Given the description of an element on the screen output the (x, y) to click on. 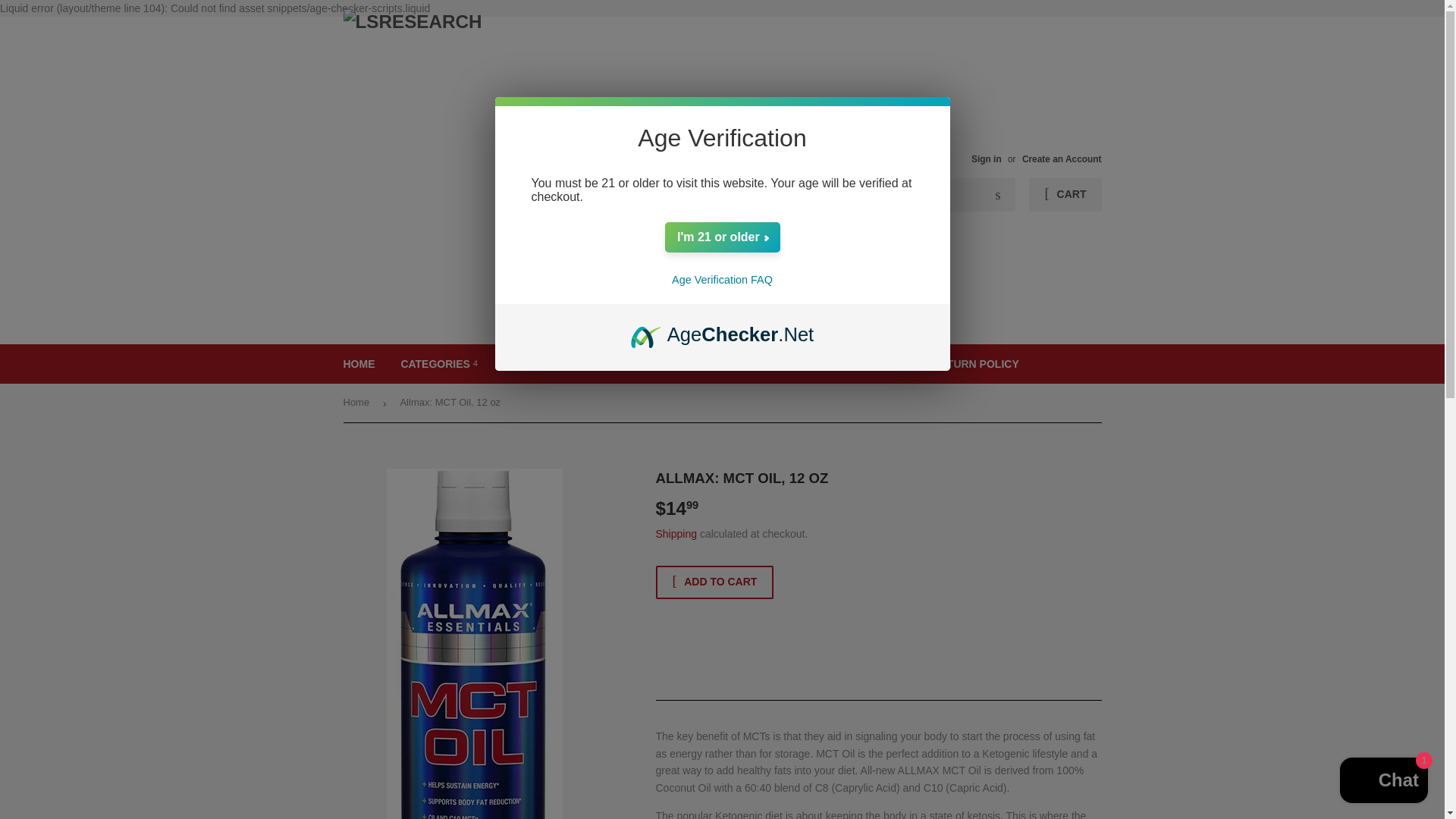
CATEGORIES (437, 363)
CART (1064, 194)
Back to the frontpage (358, 403)
Search (997, 195)
Sign in (986, 158)
Create an Account (1062, 158)
HOME (359, 363)
Shopify online store chat (1383, 781)
